Given the description of an element on the screen output the (x, y) to click on. 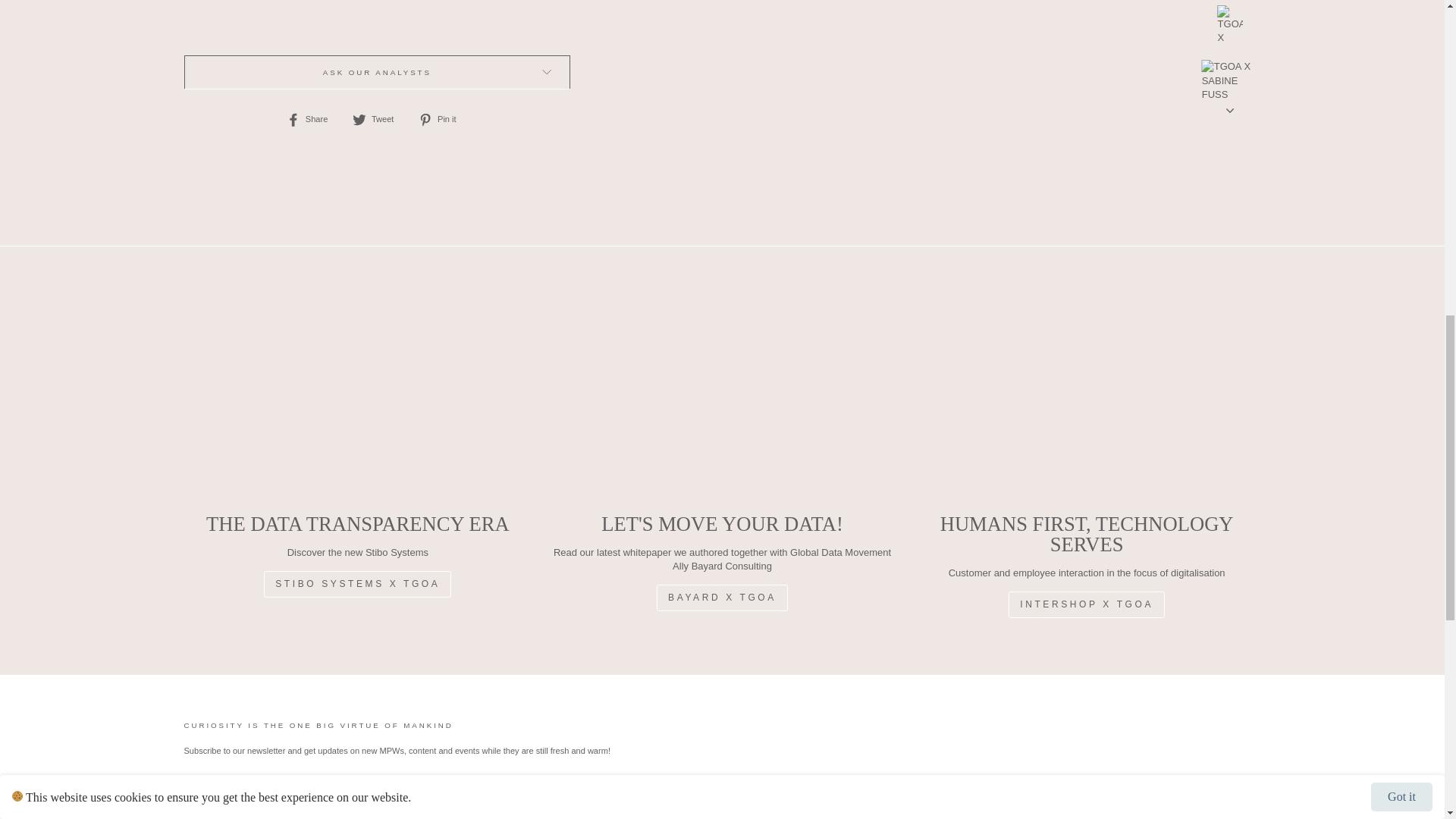
Pin on Pinterest (443, 119)
Tweet on Twitter (378, 119)
Share on Facebook (312, 119)
